Given the description of an element on the screen output the (x, y) to click on. 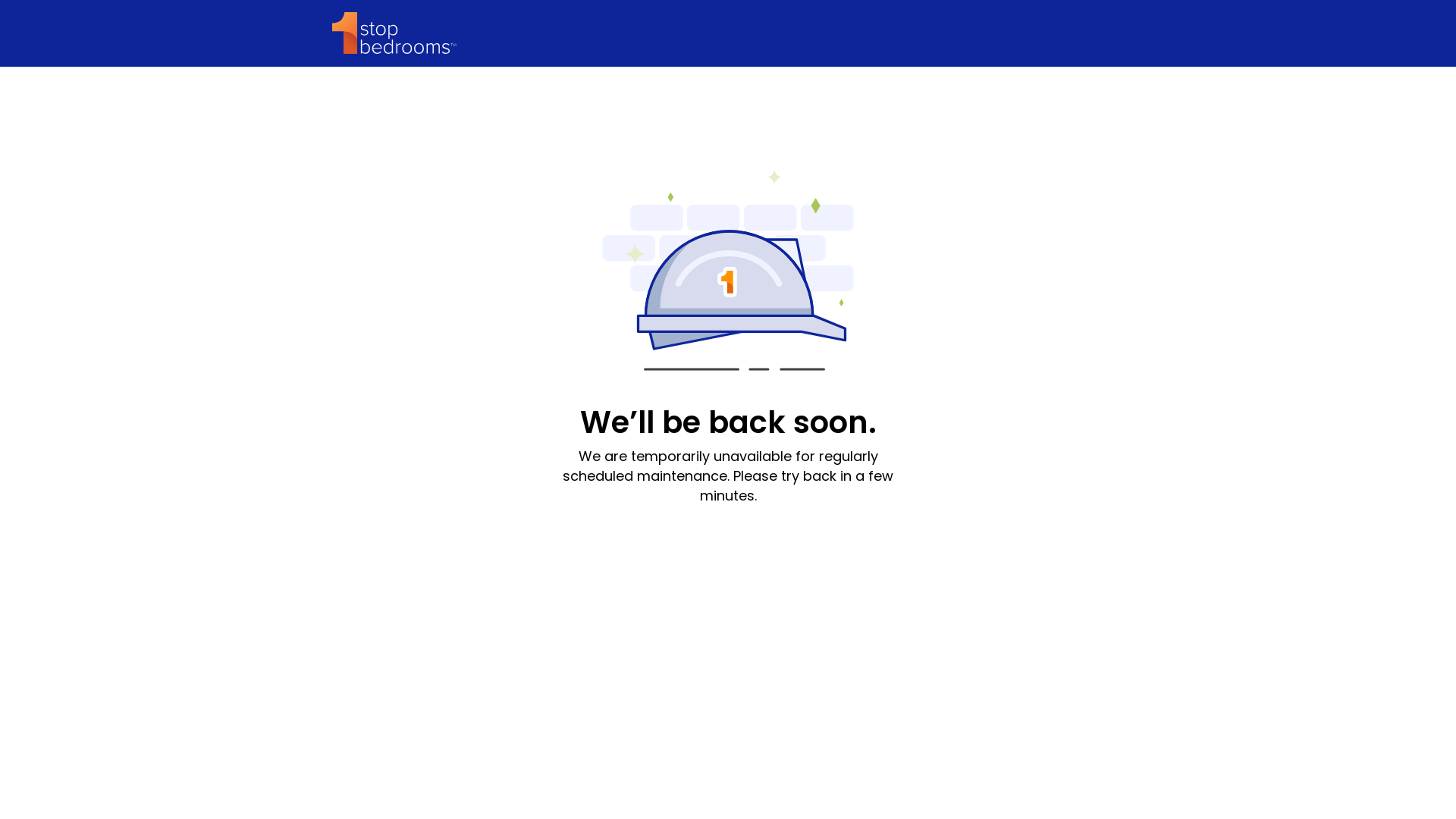
1StopBedrooms Element type: hover (393, 33)
